Given the description of an element on the screen output the (x, y) to click on. 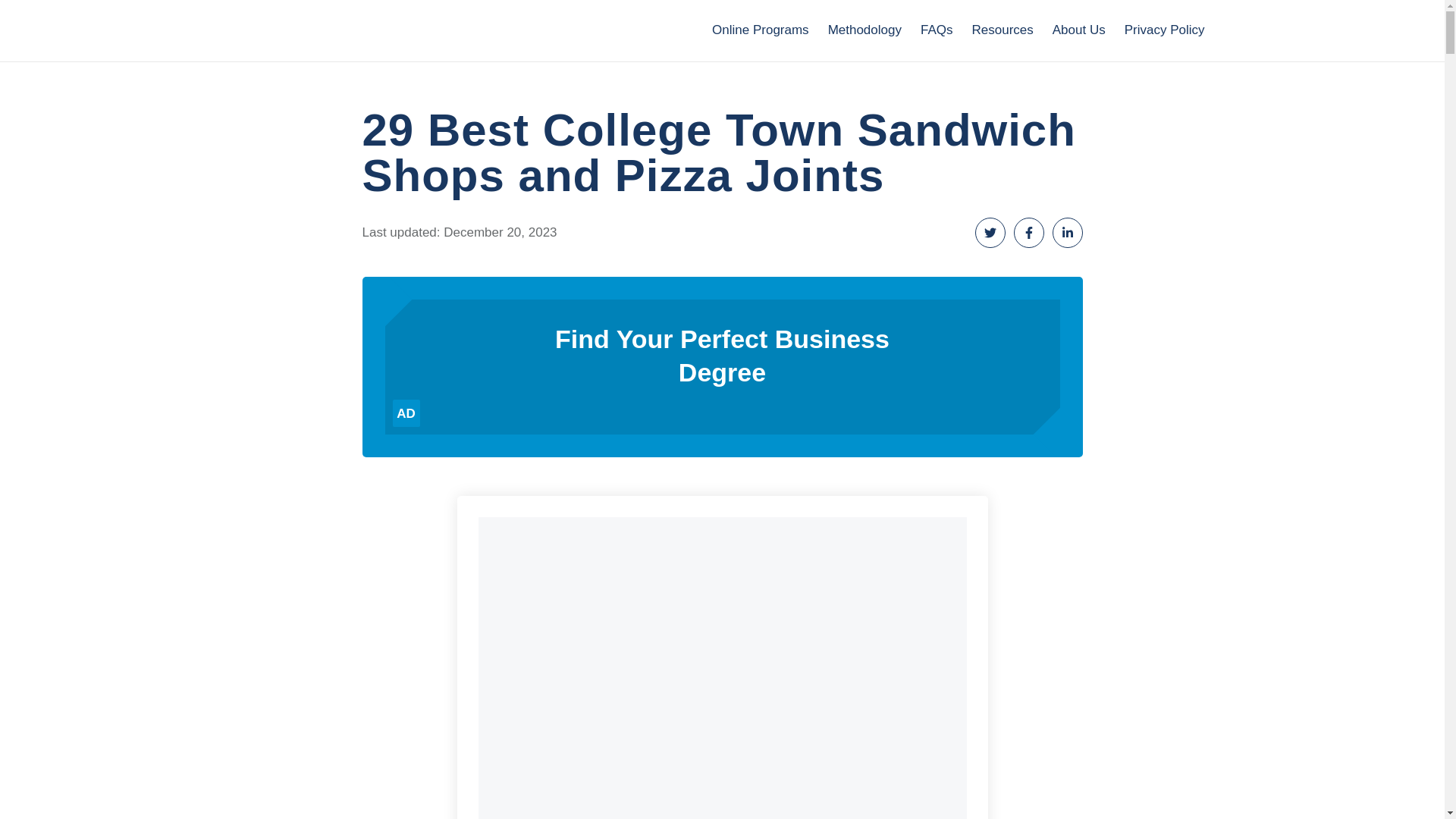
Online Programs (760, 29)
About Us (1078, 29)
FAQs (936, 29)
Methodology (864, 29)
Resources (1001, 29)
Search (1230, 30)
Search (1230, 30)
Search (1230, 30)
Privacy Policy (1164, 29)
